Given the description of an element on the screen output the (x, y) to click on. 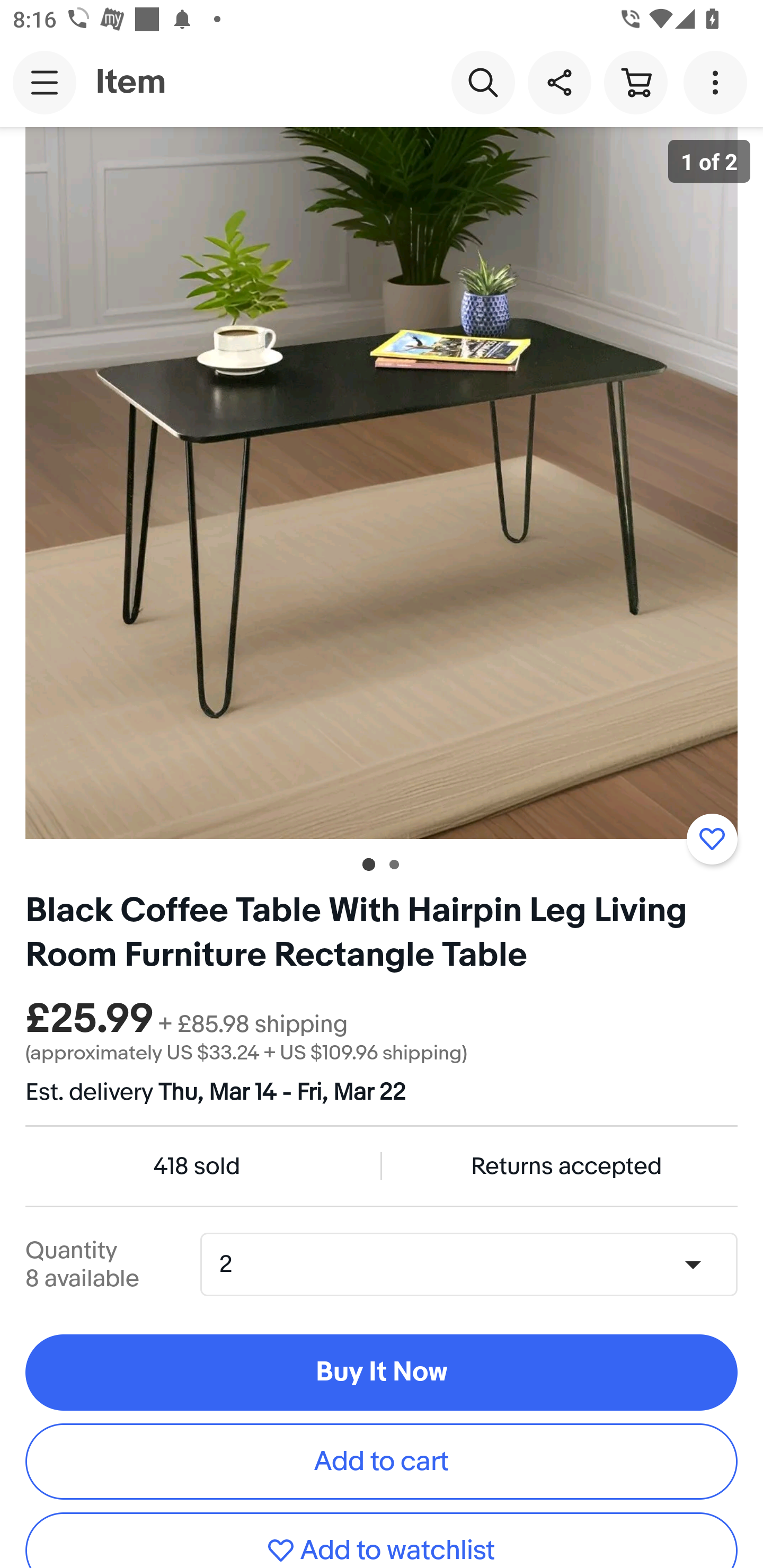
Main navigation, open (44, 82)
Search (482, 81)
Share this item (559, 81)
Cart button shopping cart (635, 81)
More options (718, 81)
Item image 1 of 2 (381, 482)
Add to watchlist (711, 838)
Quantity,2,8 available 2 (474, 1264)
Buy It Now (381, 1372)
Add to cart (381, 1461)
Add to watchlist (381, 1540)
